Given the description of an element on the screen output the (x, y) to click on. 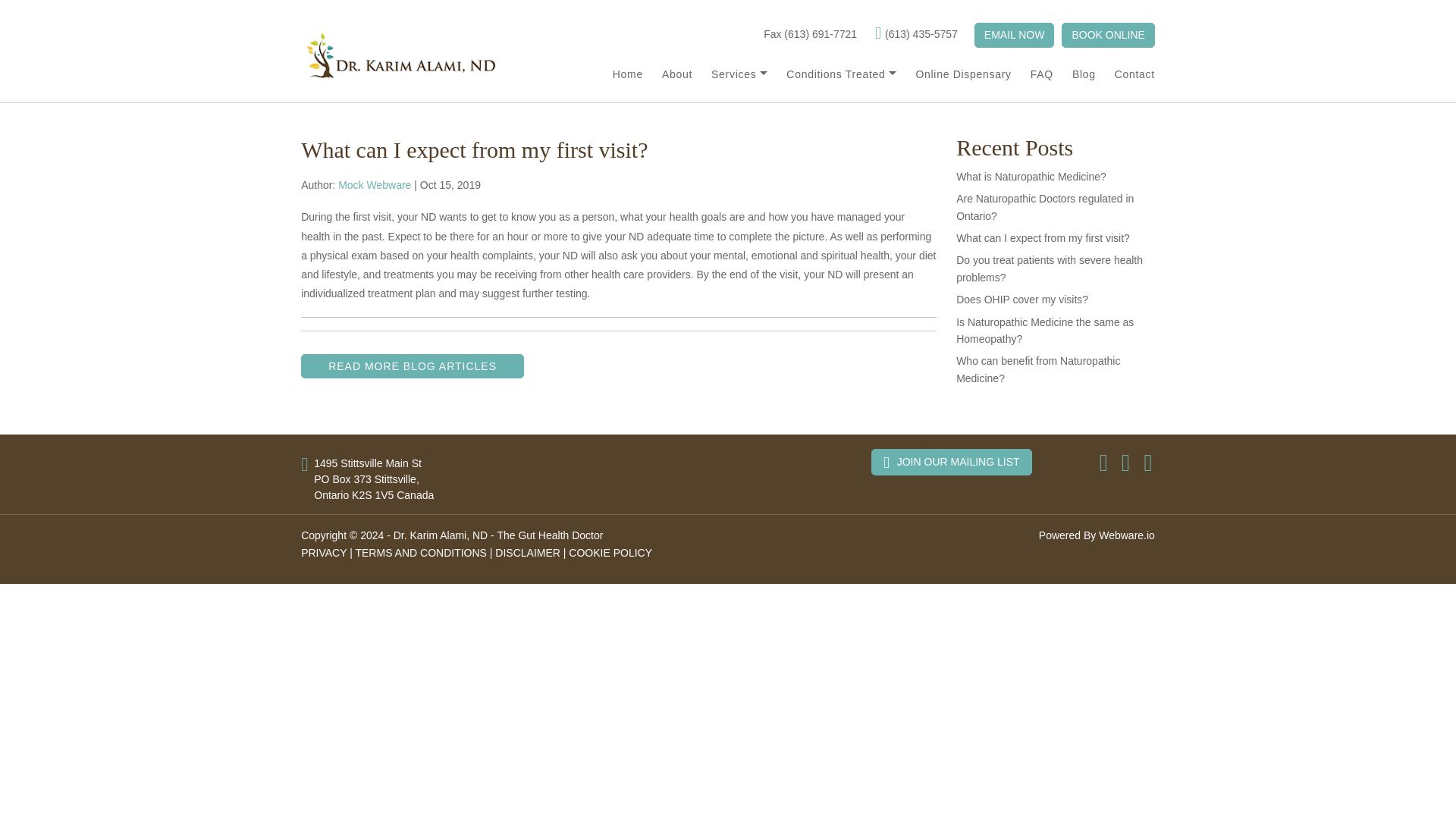
Blog (1074, 74)
FAQ (1031, 74)
Services (730, 74)
Conditions Treated (831, 74)
About (668, 74)
EMAIL NOW (1014, 34)
READ MORE BLOG ARTICLES (412, 365)
BOOK ONLINE (1107, 34)
Home (618, 74)
Contact (1125, 74)
JOIN OUR MAILING LIST (950, 461)
Online Dispensary (953, 74)
